Given the description of an element on the screen output the (x, y) to click on. 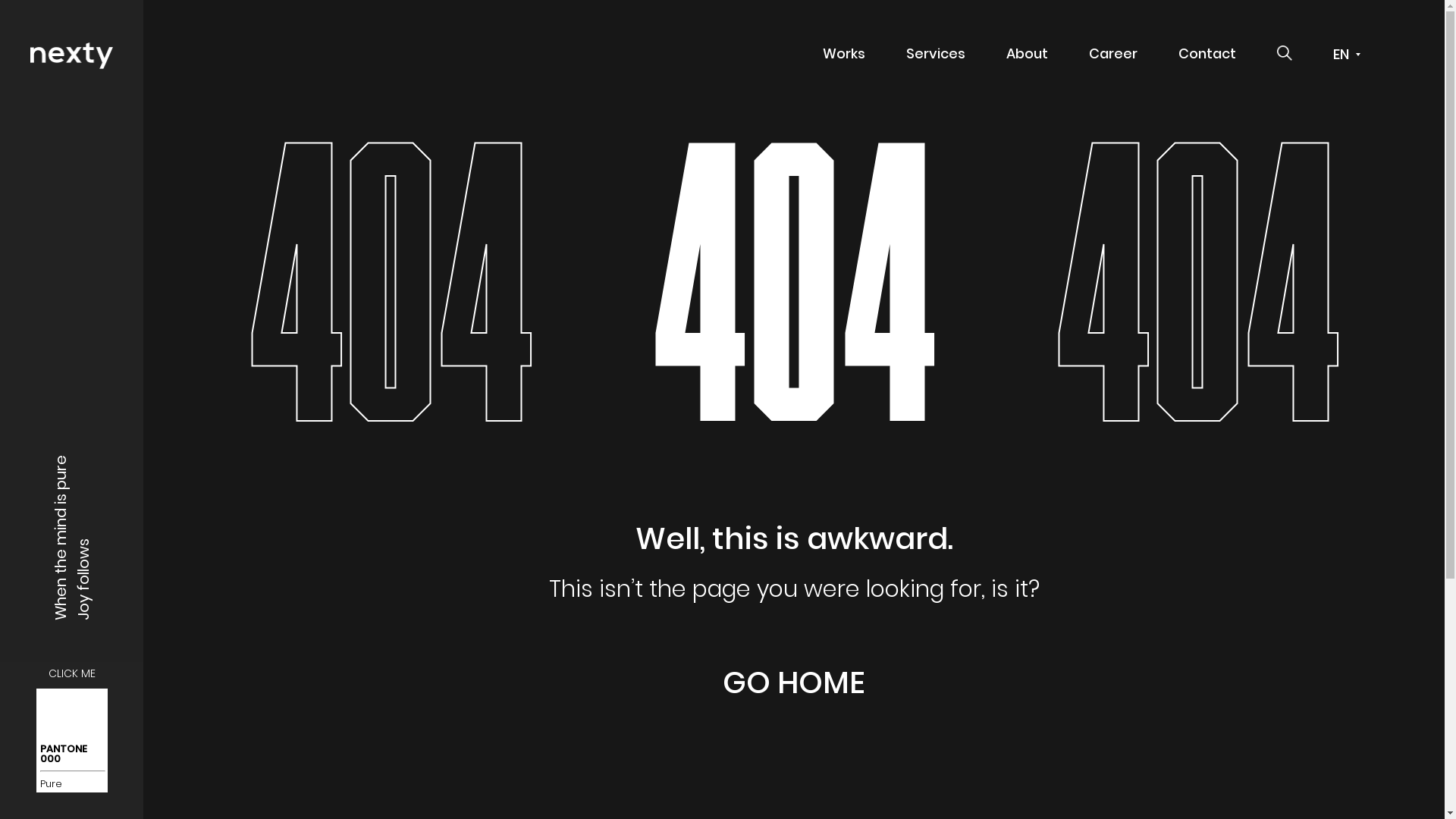
Contact Element type: text (1206, 53)
About Element type: text (1026, 53)
Career Element type: text (1112, 53)
Works Element type: text (843, 53)
Services Element type: text (935, 53)
GO HOME Element type: text (793, 682)
